Given the description of an element on the screen output the (x, y) to click on. 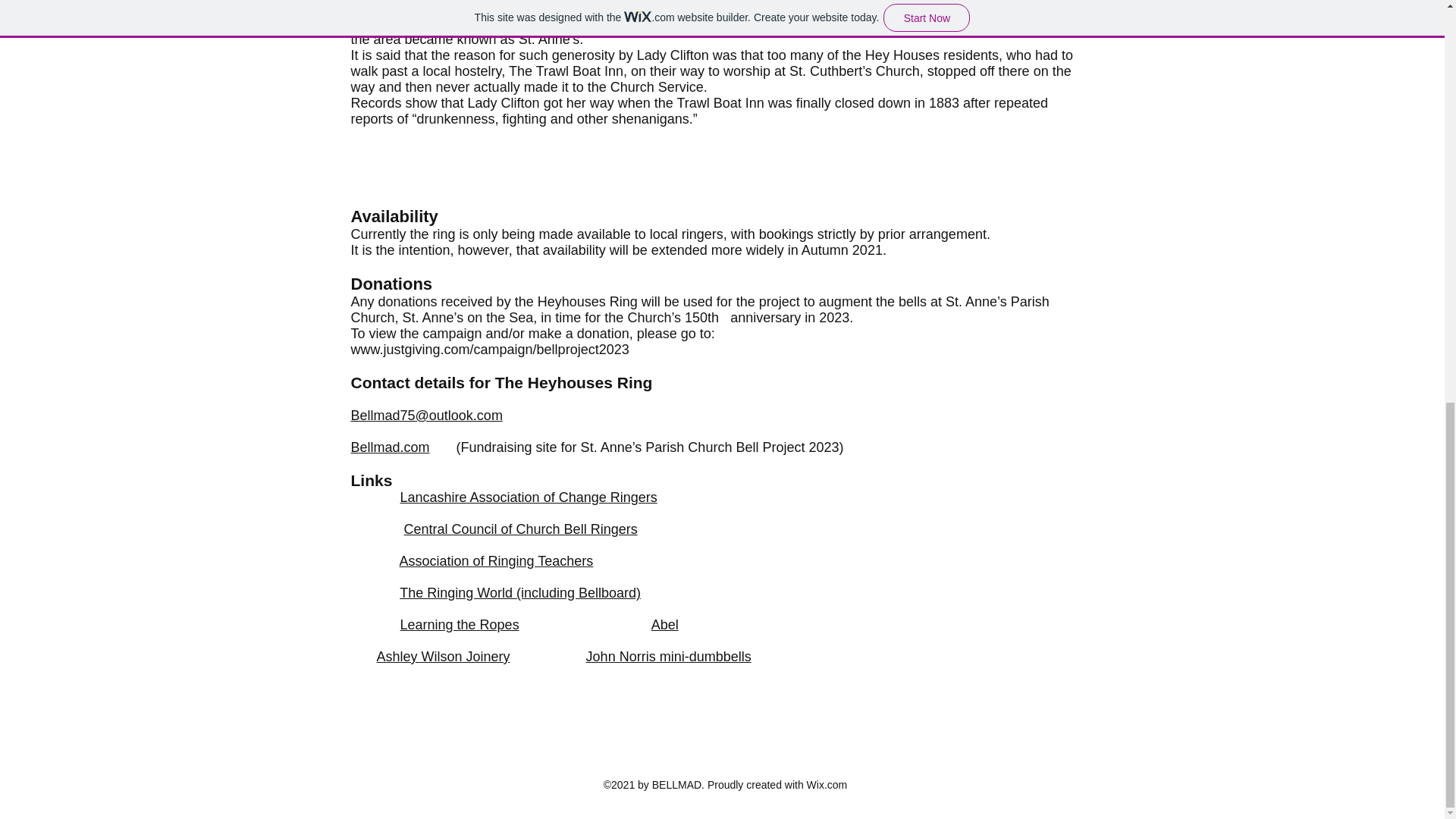
Abel (664, 624)
Bellmad.com (389, 447)
Ashley Wilson Joinery (444, 656)
Lancashire Association of Change Ringers (529, 497)
John Norris mini-dumbbells (668, 656)
Learning the Ropes (459, 624)
Association of Ringing Teachers (496, 560)
Central Council of Church Bell Ringers (520, 529)
